Given the description of an element on the screen output the (x, y) to click on. 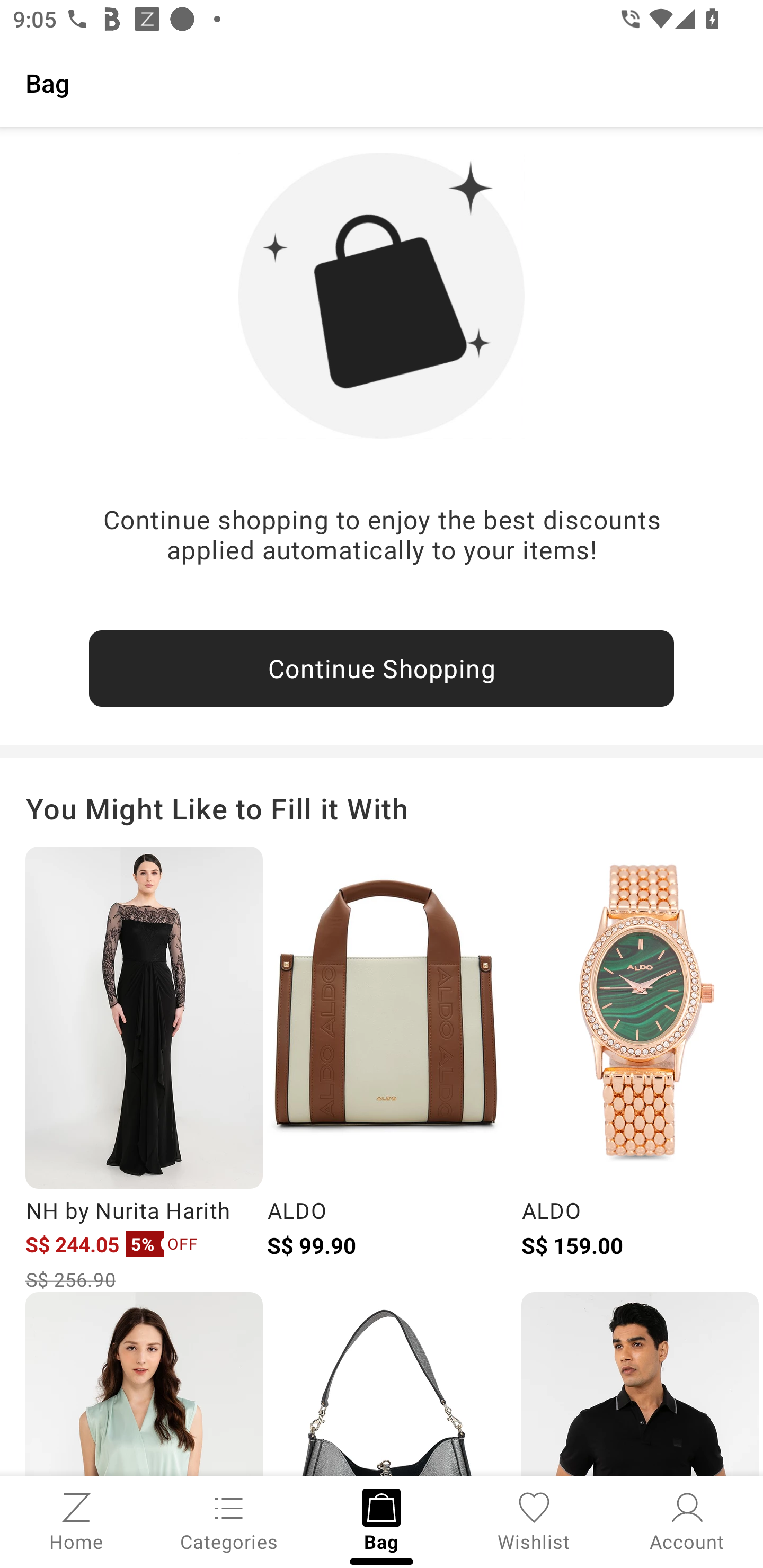
Bag (381, 82)
Continue Shopping (381, 668)
NH by Nurita Harith S$ 244.05 5% OFF S$ 256.90 (143, 1069)
ALDO S$ 99.90 (385, 1069)
ALDO S$ 159.00 (639, 1069)
Home (76, 1519)
Categories (228, 1519)
Wishlist (533, 1519)
Account (686, 1519)
